Given the description of an element on the screen output the (x, y) to click on. 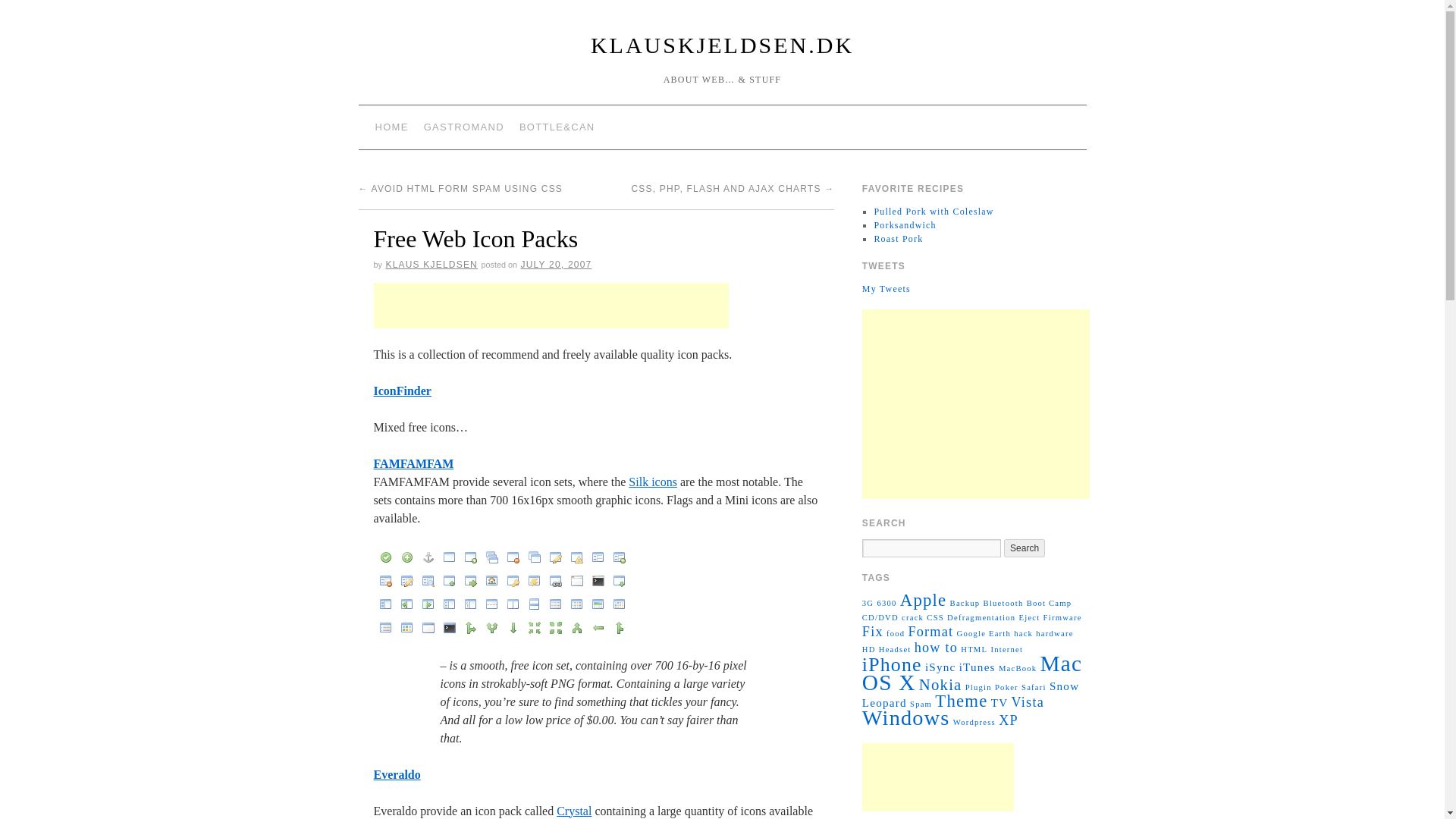
Search (1024, 547)
My Tweets (886, 288)
Silk icons (652, 481)
8:01 pm (555, 264)
KLAUSKJELDSEN.DK (722, 44)
GASTROMAND (464, 127)
View all posts by Klaus Kjeldsen (431, 264)
IconFinder (401, 390)
3G (867, 602)
Everaldo (396, 774)
